Given the description of an element on the screen output the (x, y) to click on. 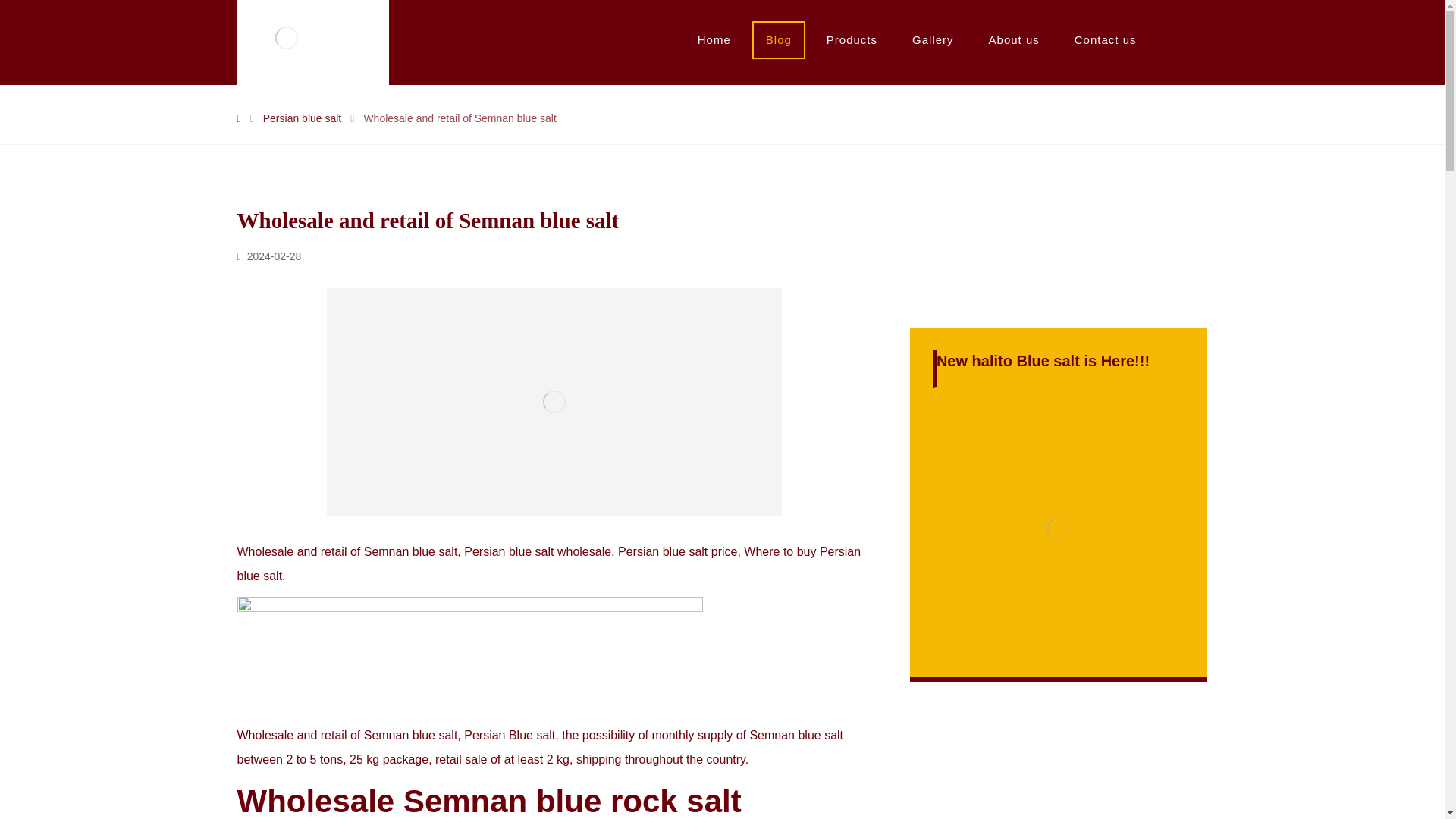
Home page (237, 118)
Gallery (932, 39)
2024-02-28 (268, 256)
New halito Blue salt is Here!!! (1059, 528)
Persian blue salt (302, 118)
blue rock salt and persian blue salt local supplier (284, 37)
About us (1013, 39)
Home (713, 39)
Wholesale and retail of Semnan blue salt (459, 118)
Blog (778, 39)
Contact us (1105, 39)
Products (852, 39)
